Given the description of an element on the screen output the (x, y) to click on. 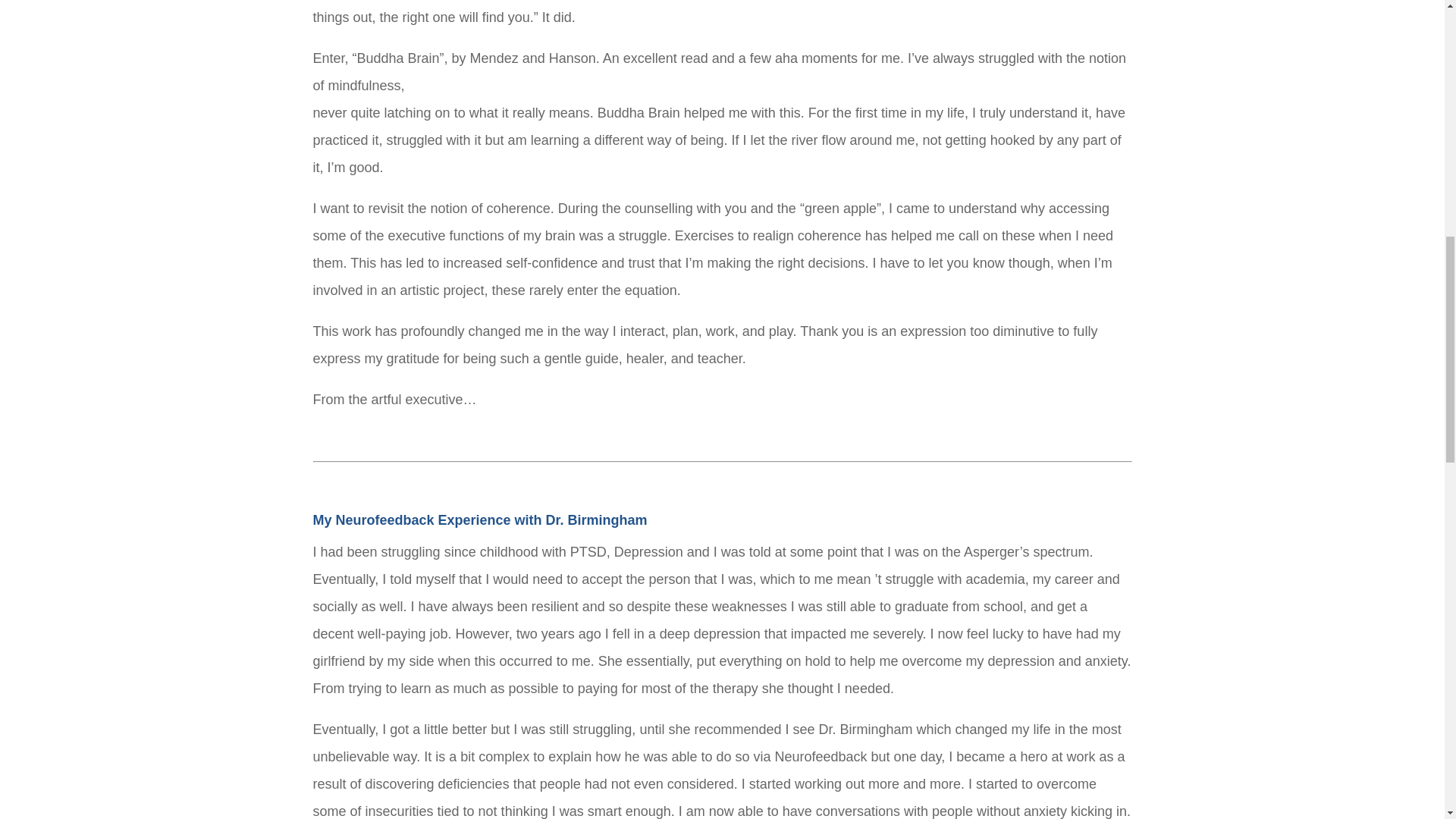
Page 1 (722, 49)
